Given the description of an element on the screen output the (x, y) to click on. 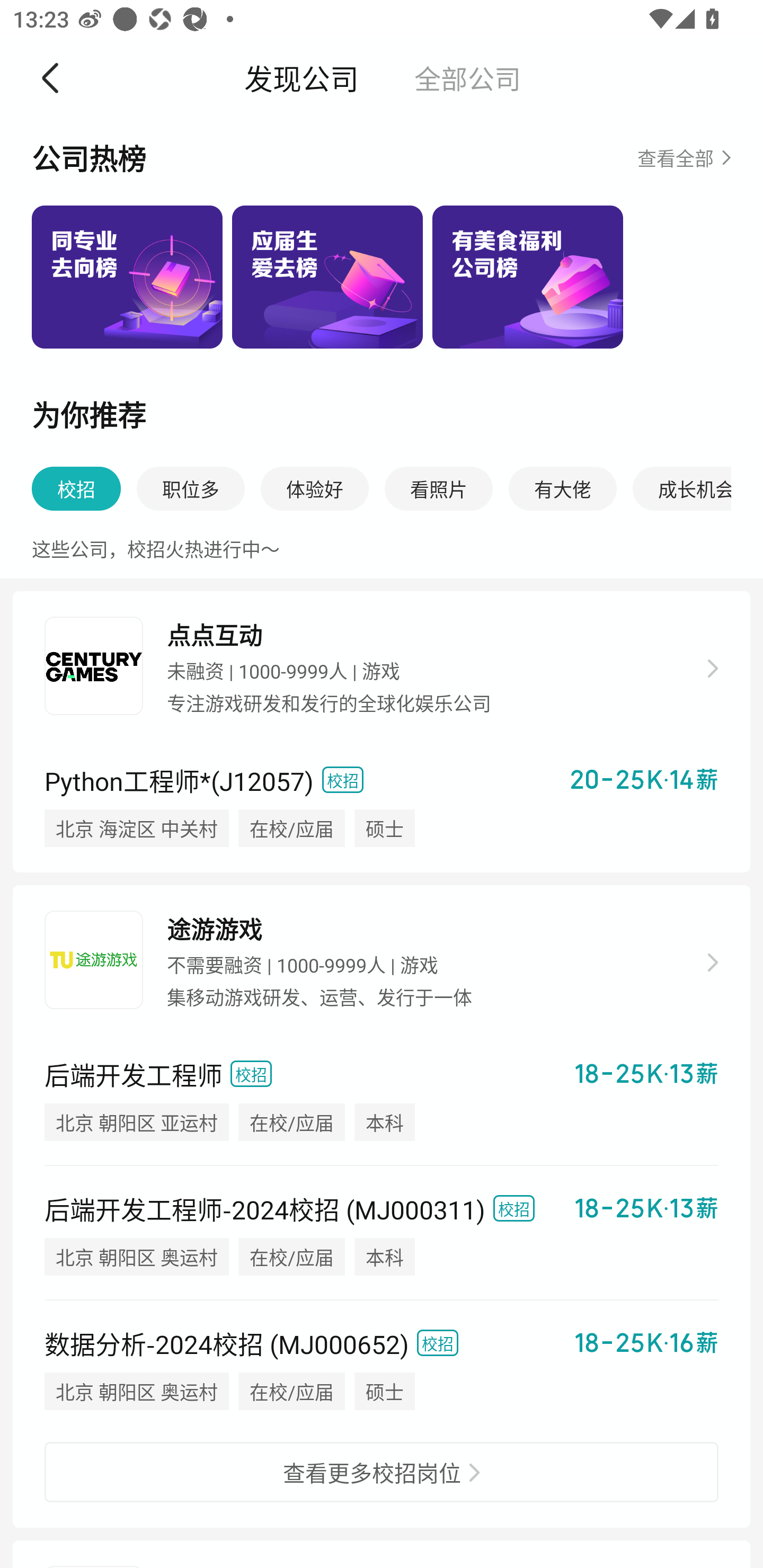
发现公司 (301, 77)
全部公司 (467, 77)
查看全部 (683, 157)
校招 (76, 489)
职位多 (190, 489)
体验好 (314, 489)
看照片 (438, 489)
有大佬 (562, 489)
成长机会多 (681, 489)
点点互动 未融资 | 1000-9999人 | 游戏 专注游戏研发和发行的全球化娱乐公司 (381, 668)
途游游戏 不需要融资 | 1000-9999人 | 游戏 集移动游戏研发、运营、发行于一体 (381, 963)
后端开发工程师 校招 18-25K·13薪 北京 朝阳区 亚运村 在校/应届 本科 (381, 1098)
查看更多校招岗位 (381, 1472)
